Given the description of an element on the screen output the (x, y) to click on. 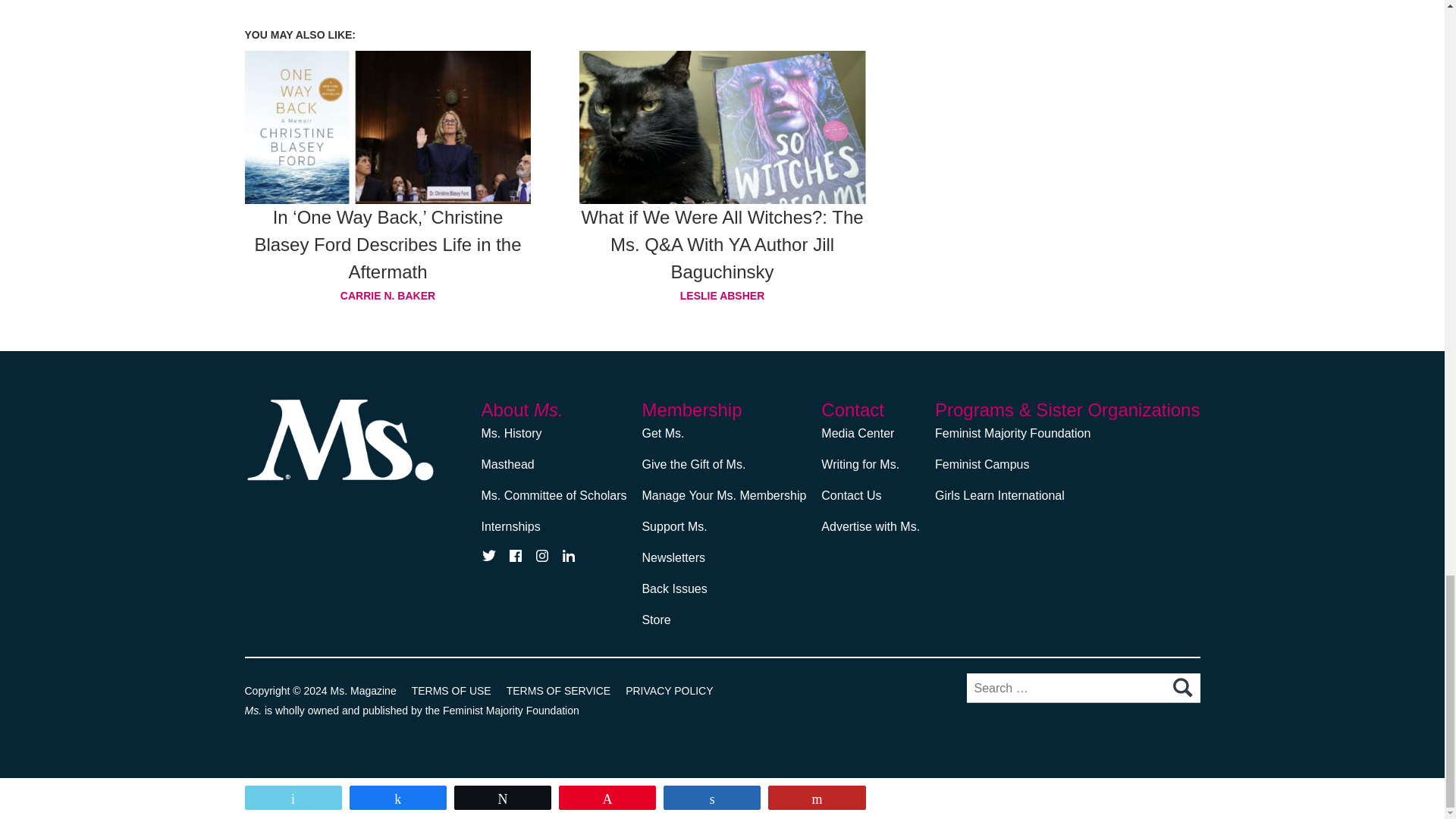
Search (1182, 687)
Posts by Leslie Absher (722, 295)
Search for: (1082, 687)
Posts by Carrie N. Baker (387, 295)
Search (1182, 687)
